Given the description of an element on the screen output the (x, y) to click on. 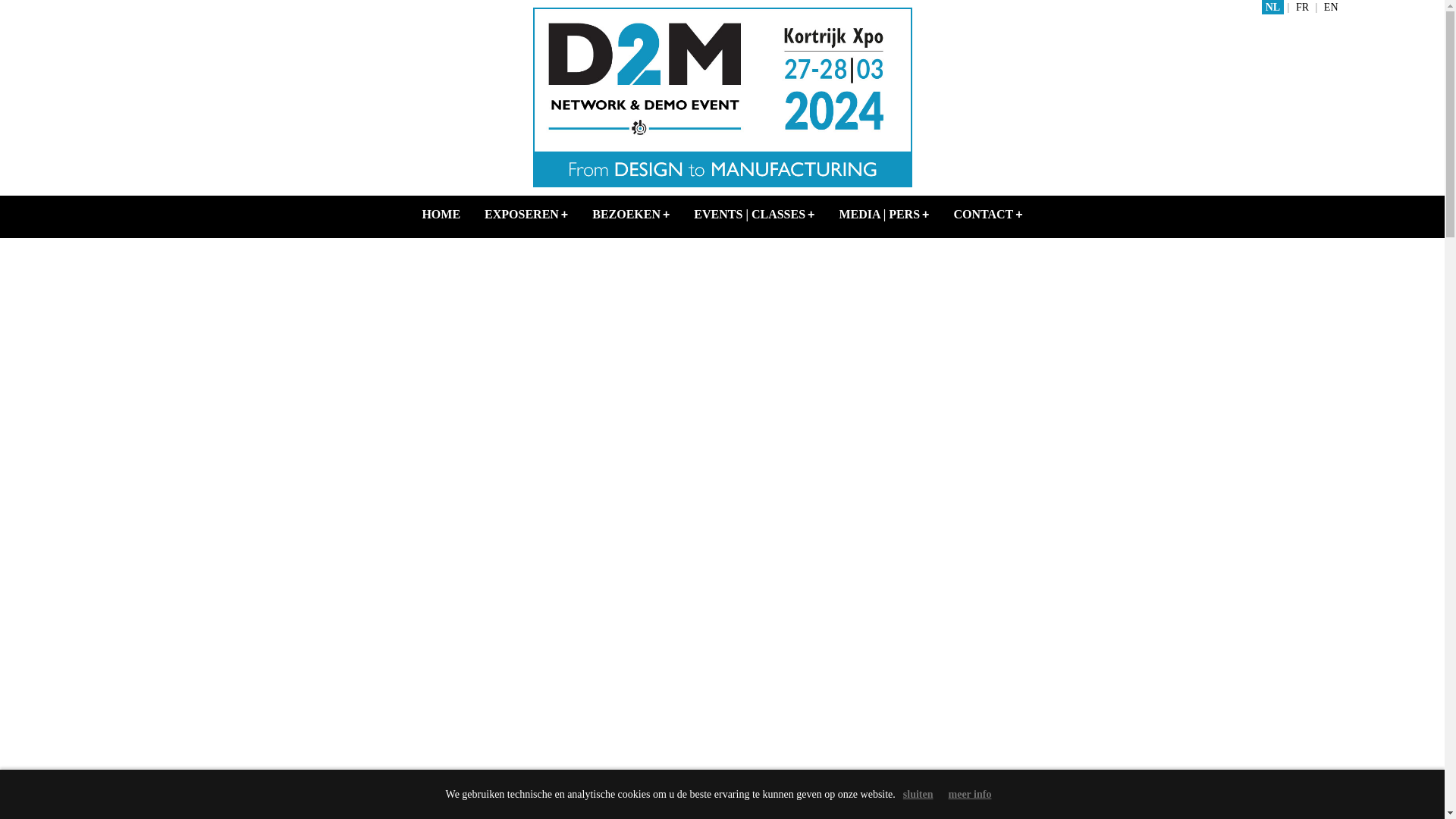
sluiten Element type: text (918, 794)
MEDIA | PERS+ Element type: text (883, 214)
BEZOEKEN+ Element type: text (630, 214)
EVENTS | CLASSES+ Element type: text (753, 214)
CONTACT+ Element type: text (987, 214)
EN Element type: text (1330, 6)
HOME Element type: text (440, 214)
EXPOSEREN+ Element type: text (526, 214)
meer info Element type: text (969, 794)
FR Element type: text (1302, 6)
